Given the description of an element on the screen output the (x, y) to click on. 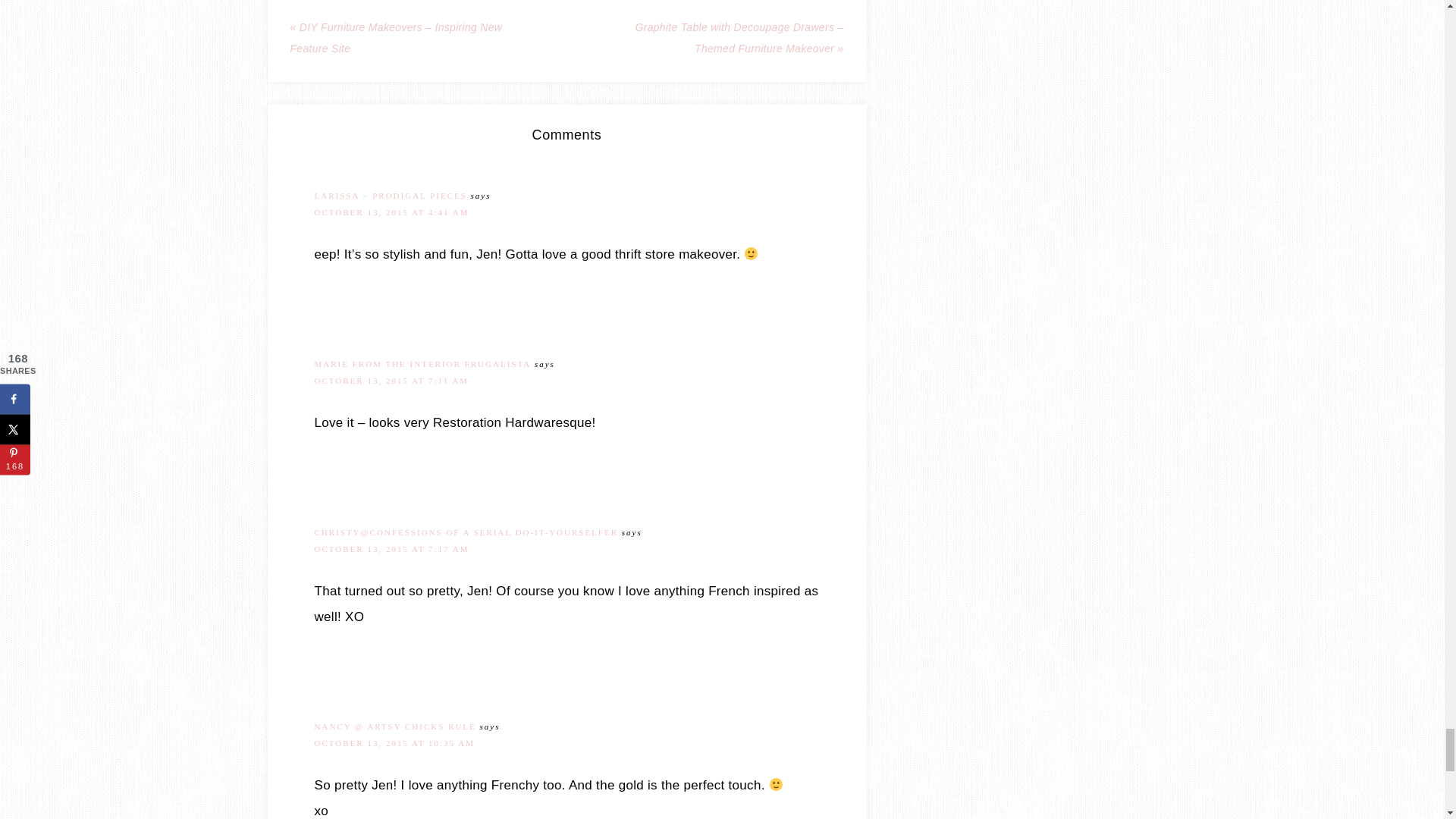
OCTOBER 13, 2015 AT 7:17 AM (391, 548)
MARIE FROM THE INTERIOR FRUGALISTA (422, 363)
OCTOBER 13, 2015 AT 7:11 AM (391, 379)
OCTOBER 13, 2015 AT 4:41 AM (391, 212)
